Given the description of an element on the screen output the (x, y) to click on. 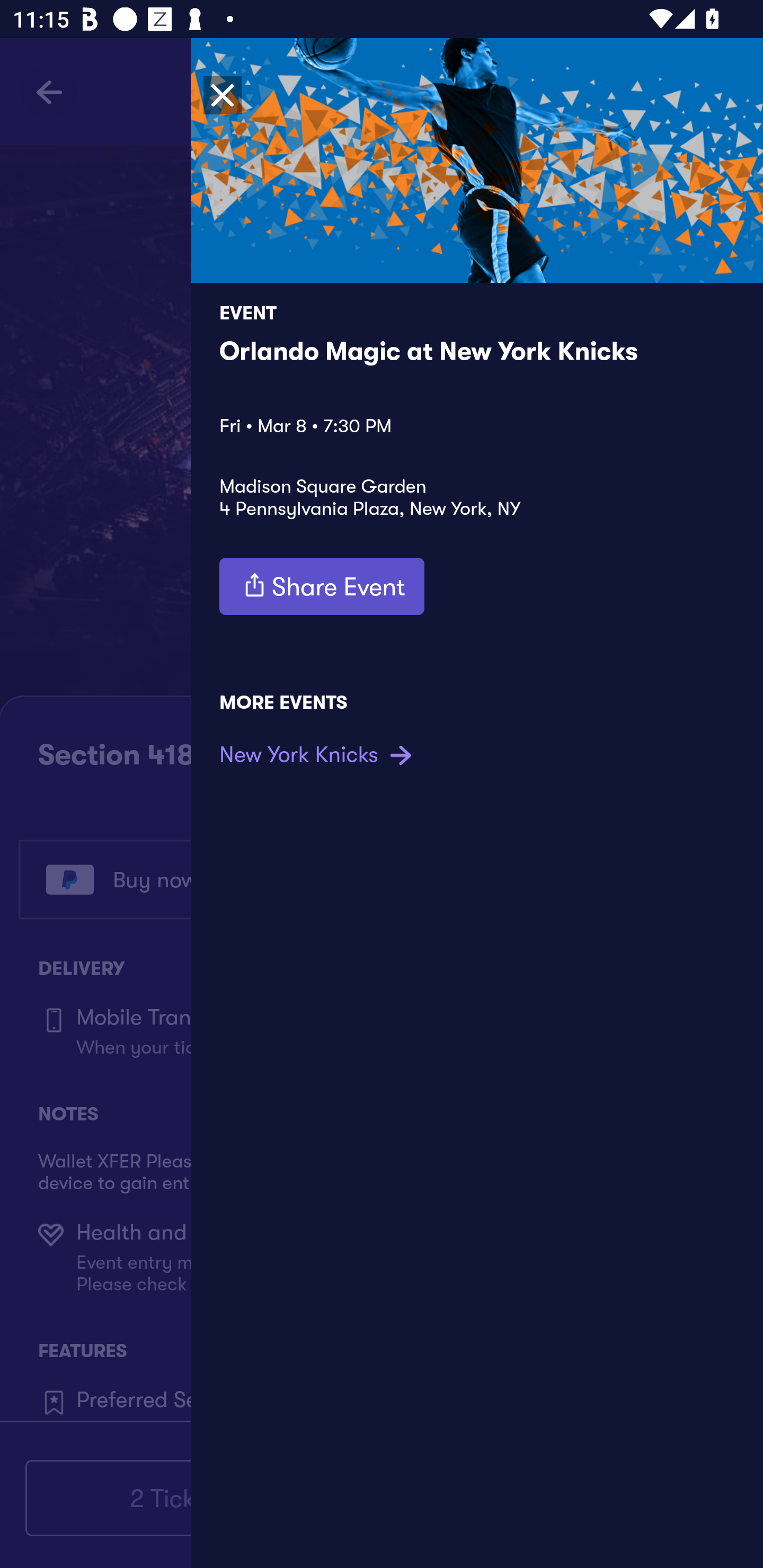
Share Event (321, 586)
New York Knicks (318, 753)
